Given the description of an element on the screen output the (x, y) to click on. 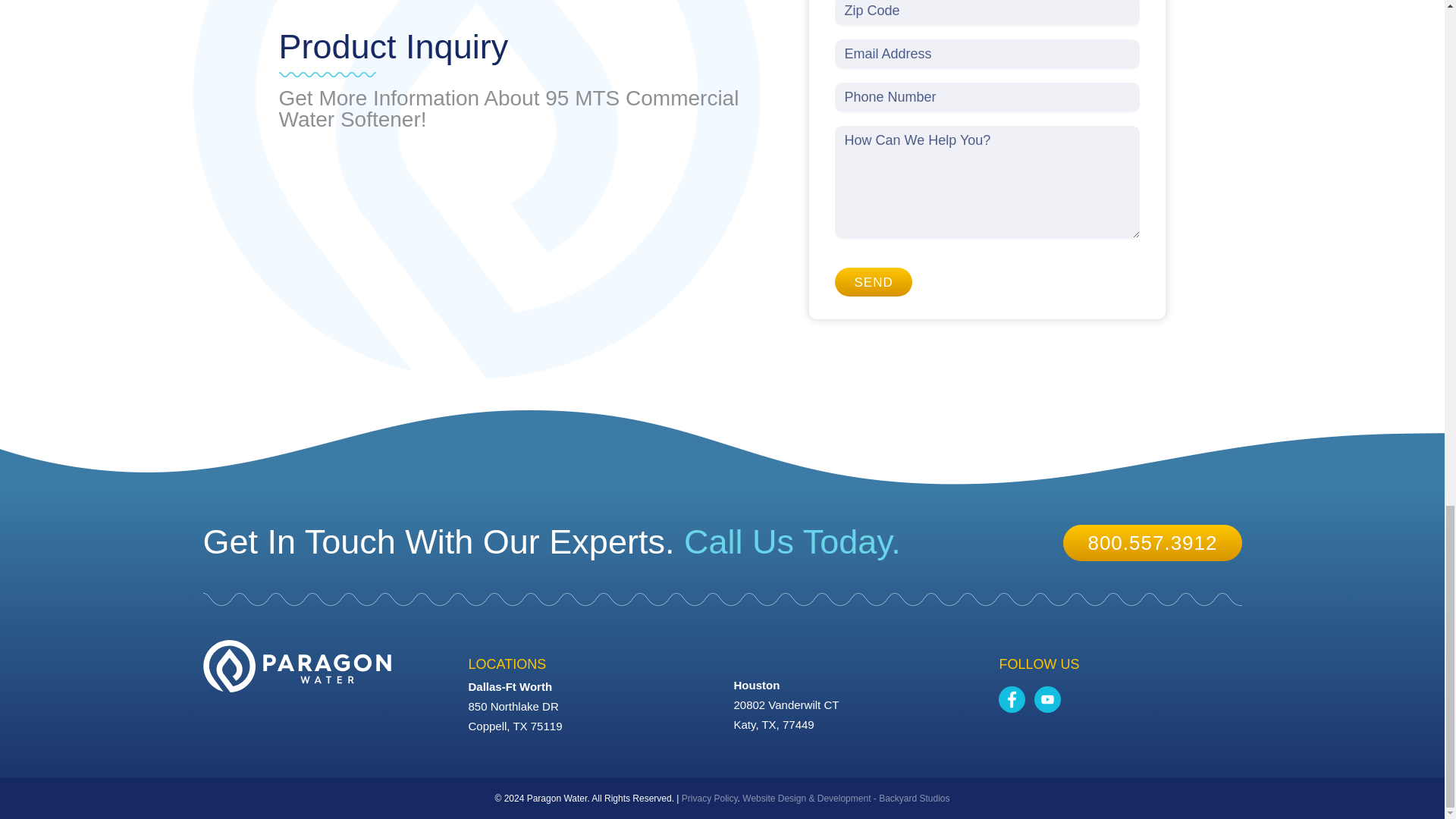
Send (872, 281)
